Given the description of an element on the screen output the (x, y) to click on. 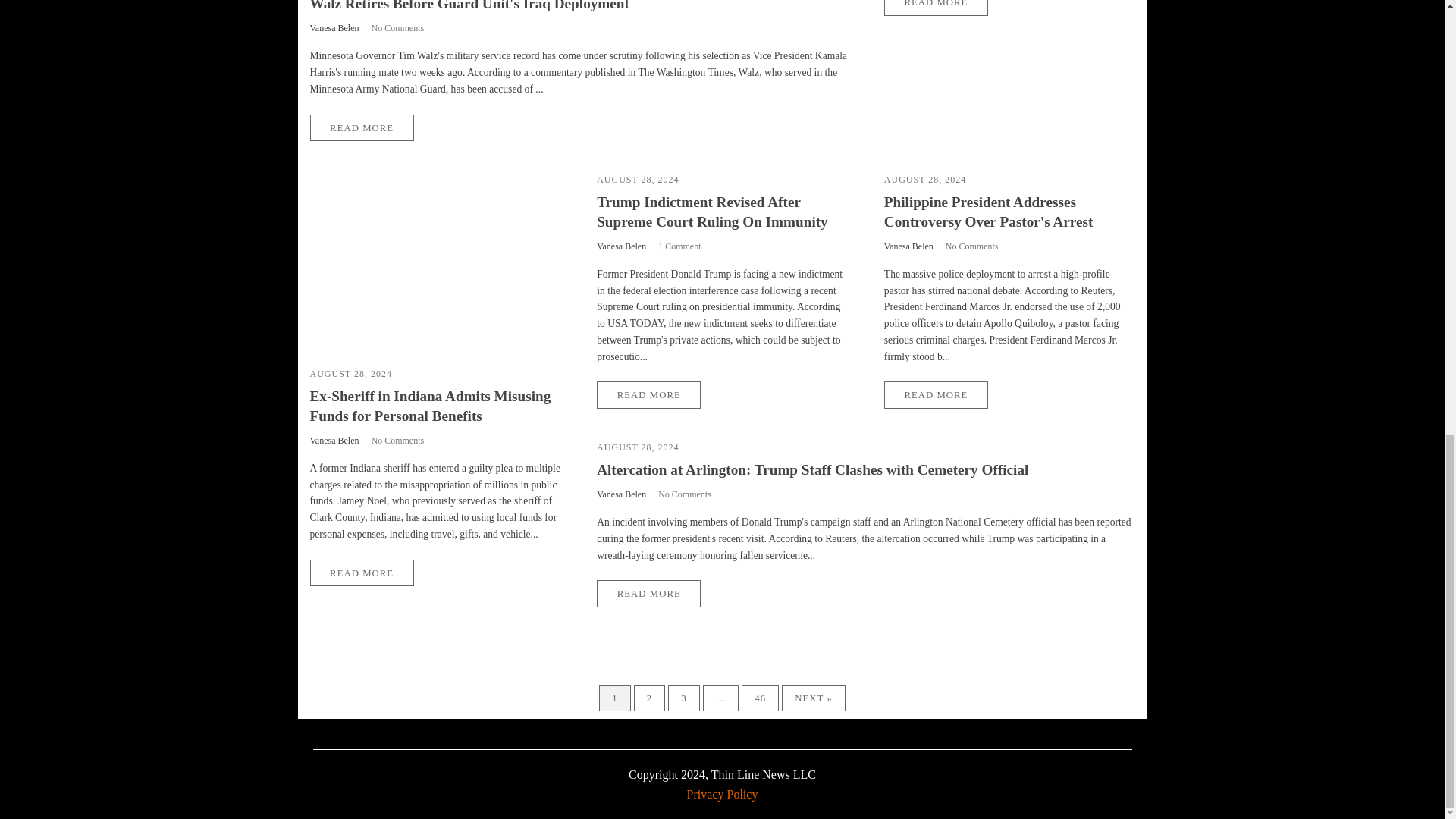
Privacy Policy (722, 793)
Walz Retires Before Guard Unit's Iraq Deployment (468, 5)
READ MORE (935, 7)
No Comments (397, 27)
3 (683, 697)
READ MORE (648, 394)
1 Comment (679, 245)
